Given the description of an element on the screen output the (x, y) to click on. 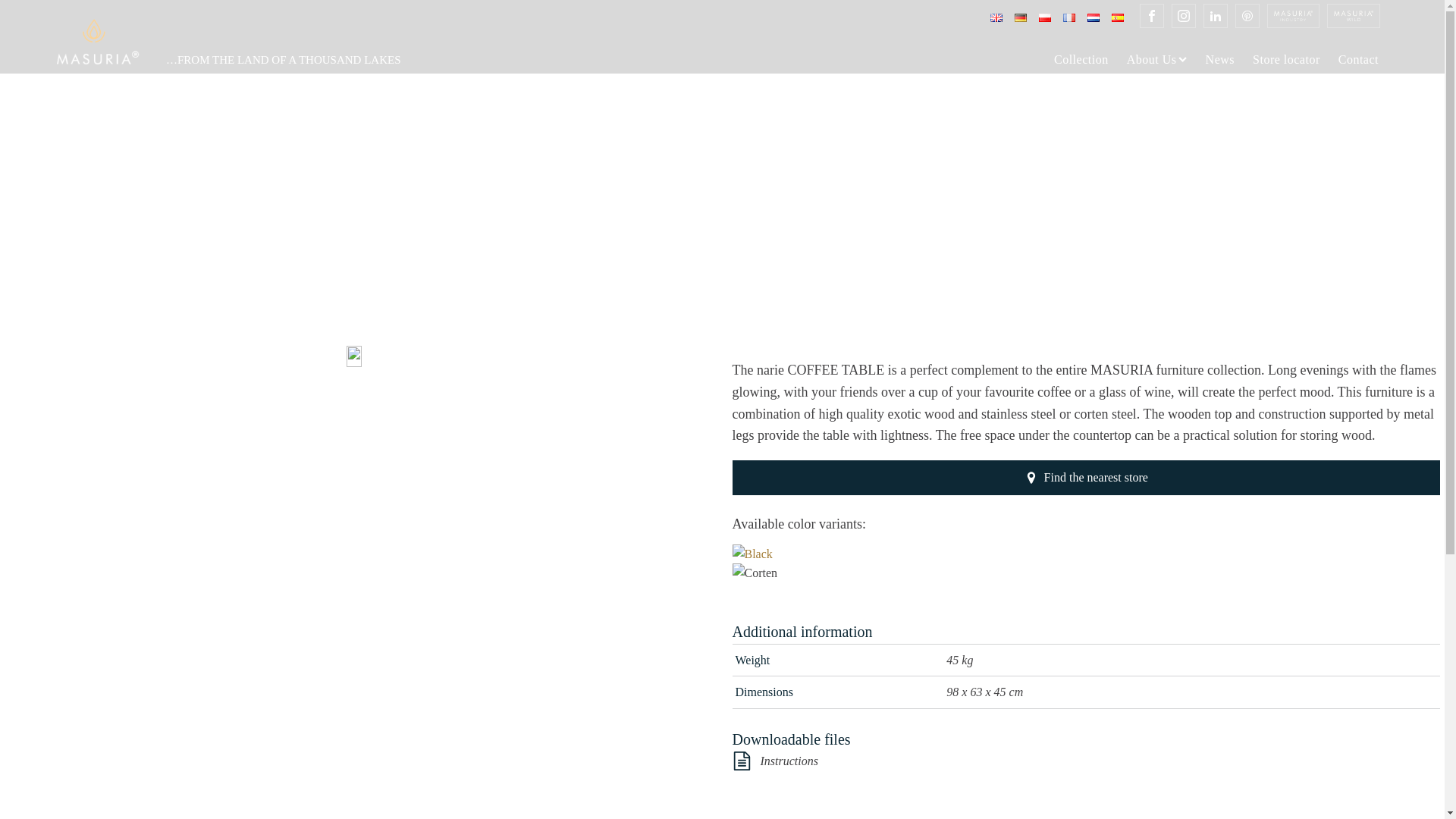
Store locator (1286, 60)
Contact (1358, 60)
Collection (1081, 60)
News (1219, 60)
About Us (1157, 60)
